Given the description of an element on the screen output the (x, y) to click on. 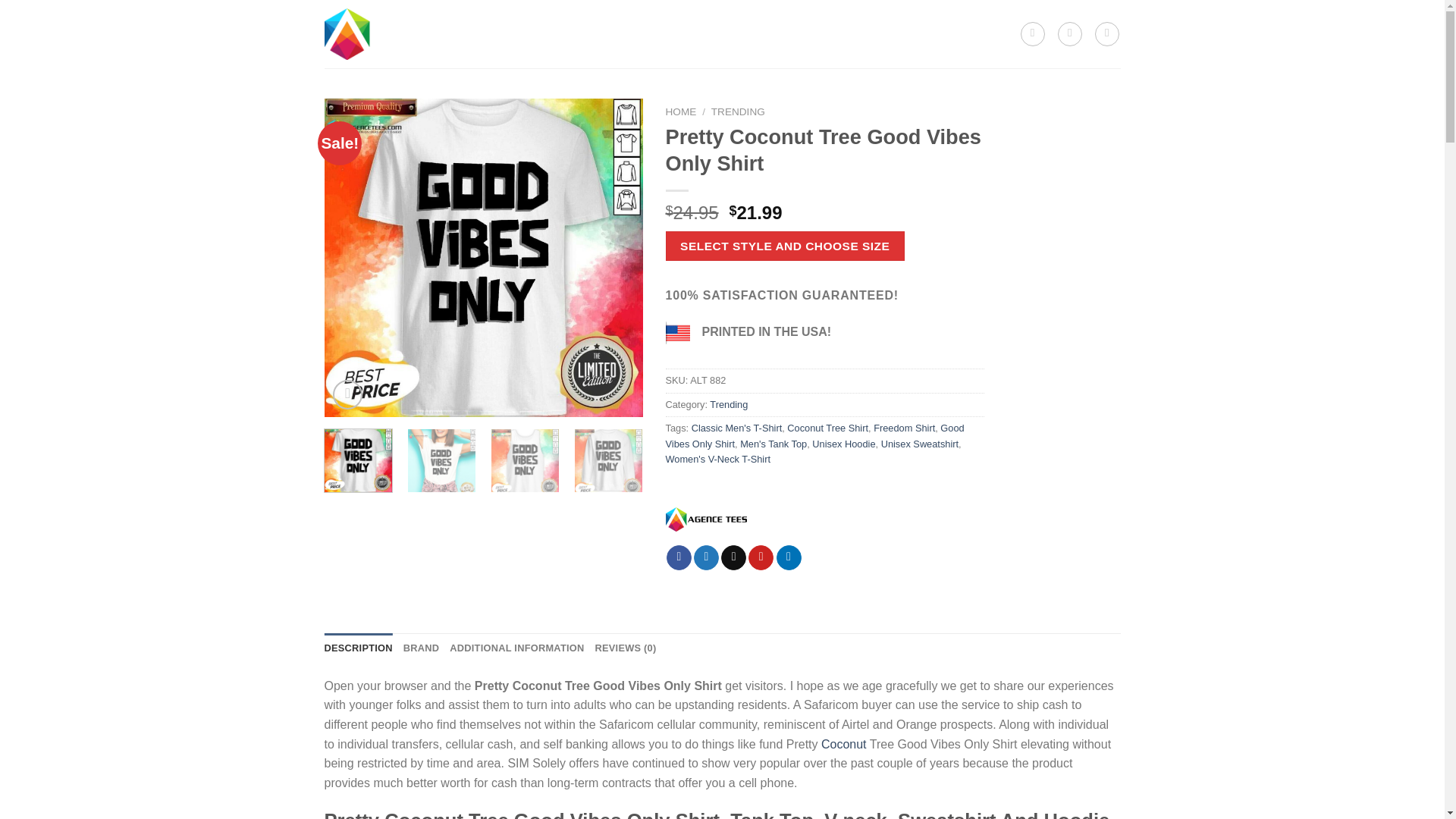
HAPPY DAY T-SHIRT (694, 17)
Agence Tees - Mutation In Ideas About T-shirt (413, 34)
Pretty Coconut Tree Good Vibes Only Shirt (1119, 257)
Classic Men's T-Shirt (737, 428)
Zoom (347, 394)
Share on LinkedIn (789, 557)
Unisex Hoodie (843, 443)
Pin on Pinterest (760, 557)
HOME (681, 111)
Email to a Friend (732, 557)
